Given the description of an element on the screen output the (x, y) to click on. 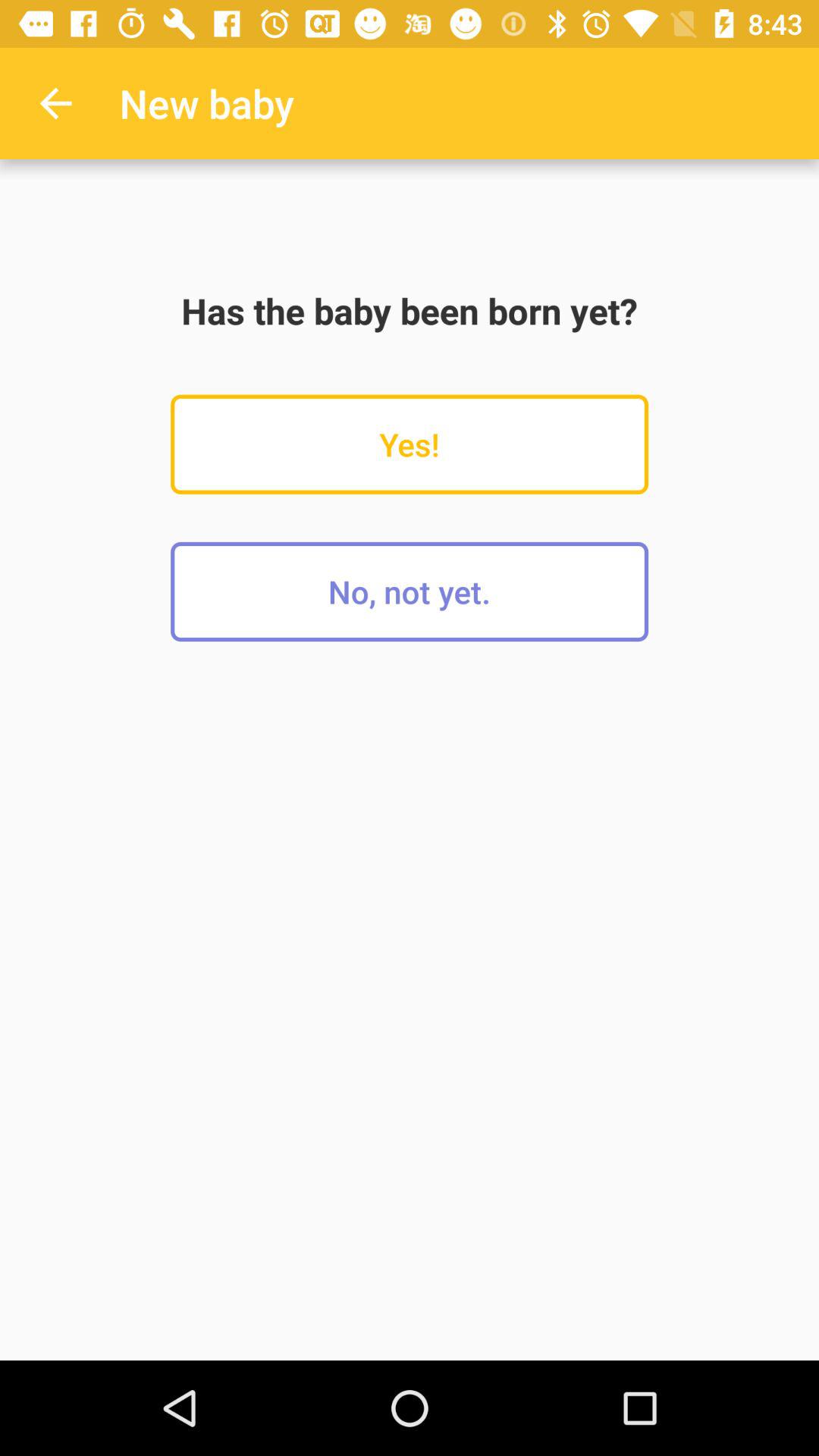
turn off the icon below the has the baby icon (409, 444)
